Given the description of an element on the screen output the (x, y) to click on. 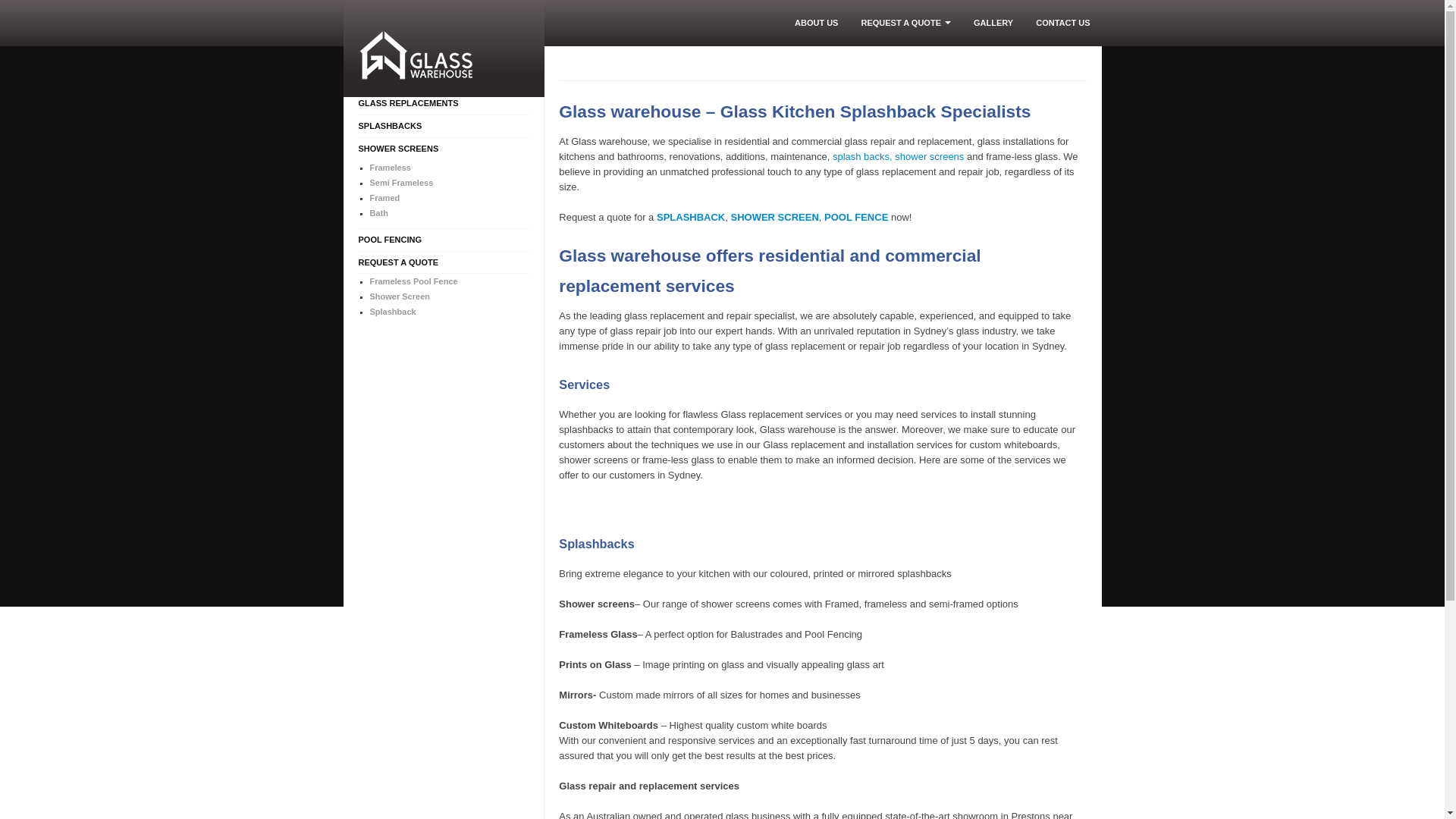
Shower Screen Element type: text (450, 296)
SHOWER SCREEN Element type: text (775, 216)
POOL FENCE Element type: text (856, 216)
Splashback Element type: text (450, 311)
splash backs, Element type: text (862, 156)
REQUEST A QUOTE Element type: text (443, 262)
CONTACT US Element type: text (1062, 22)
shower screens Element type: text (928, 156)
SHOWER SCREENS Element type: text (443, 148)
Semi Frameless Element type: text (450, 182)
Frameless Element type: text (450, 167)
GALLERY Element type: text (993, 22)
SPLASHBACK Element type: text (690, 216)
GLASS REPLACEMENTS Element type: text (443, 102)
Frameless Pool Fence Element type: text (450, 280)
POOL FENCING Element type: text (443, 239)
ABOUT US Element type: text (816, 22)
SPLASHBACKS Element type: text (443, 125)
Bath Element type: text (450, 212)
Framed Element type: text (450, 197)
REQUEST A QUOTE Element type: text (905, 22)
